Given the description of an element on the screen output the (x, y) to click on. 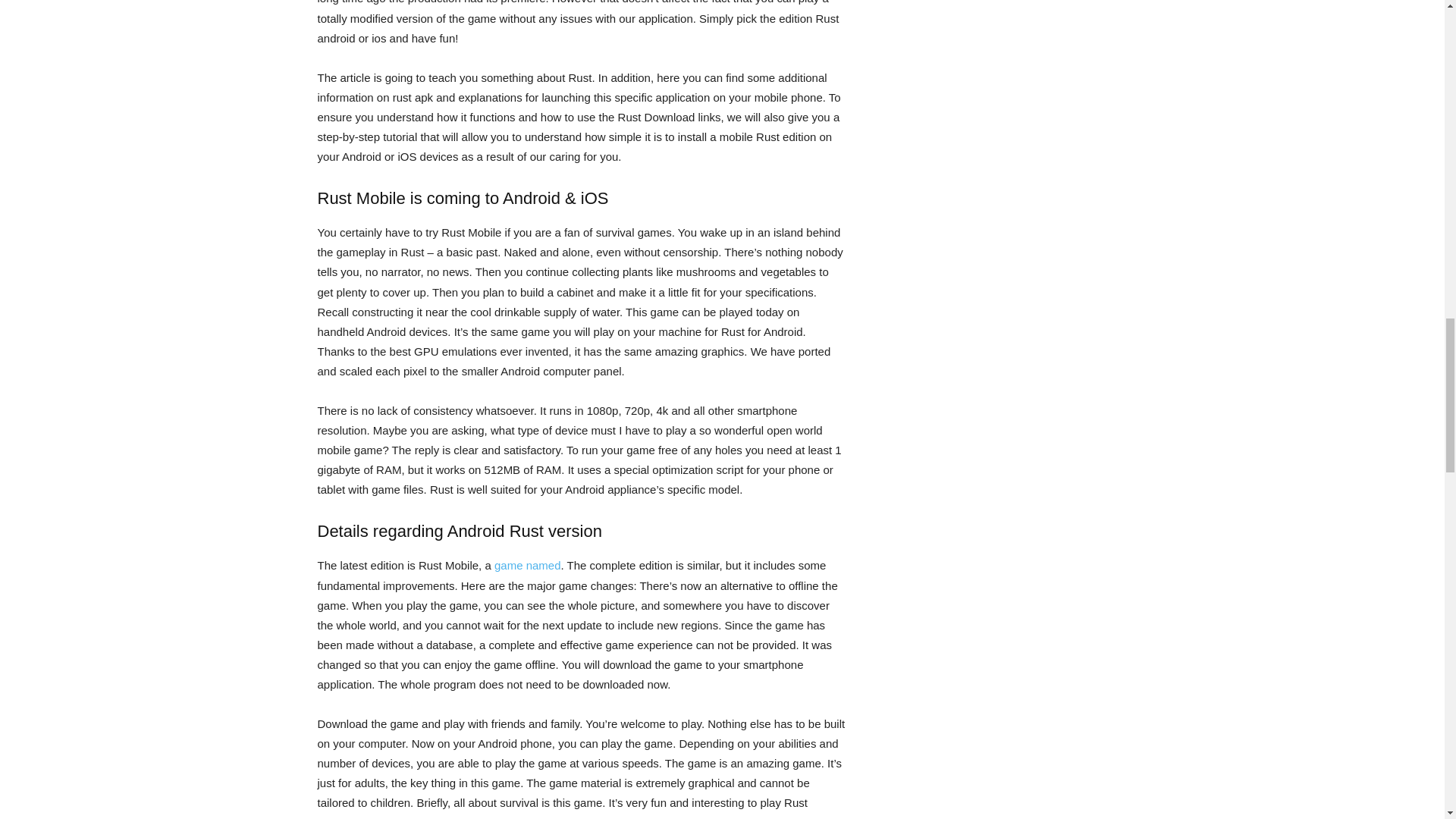
game named (527, 564)
